Given the description of an element on the screen output the (x, y) to click on. 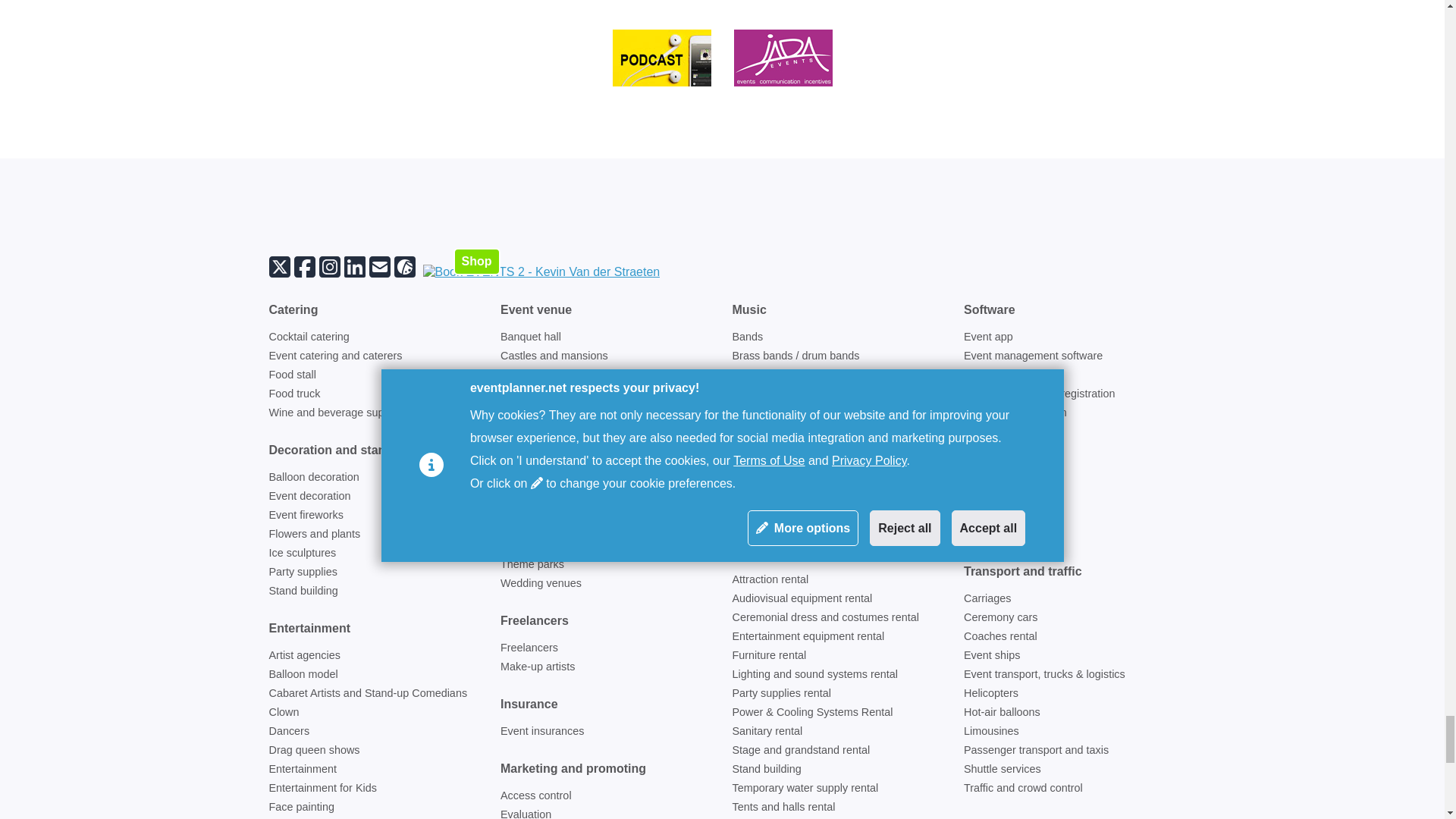
Event Catering (334, 355)
Ice sculptures (301, 552)
Event Fireworks (304, 514)
Food stall (291, 374)
balloon decoration (312, 476)
Food Truck (293, 393)
Cocktail Catering (308, 336)
Event Decoration (308, 495)
Wine and beverages (338, 412)
Flowers and Plants (313, 533)
Party decoration (301, 571)
